Given the description of an element on the screen output the (x, y) to click on. 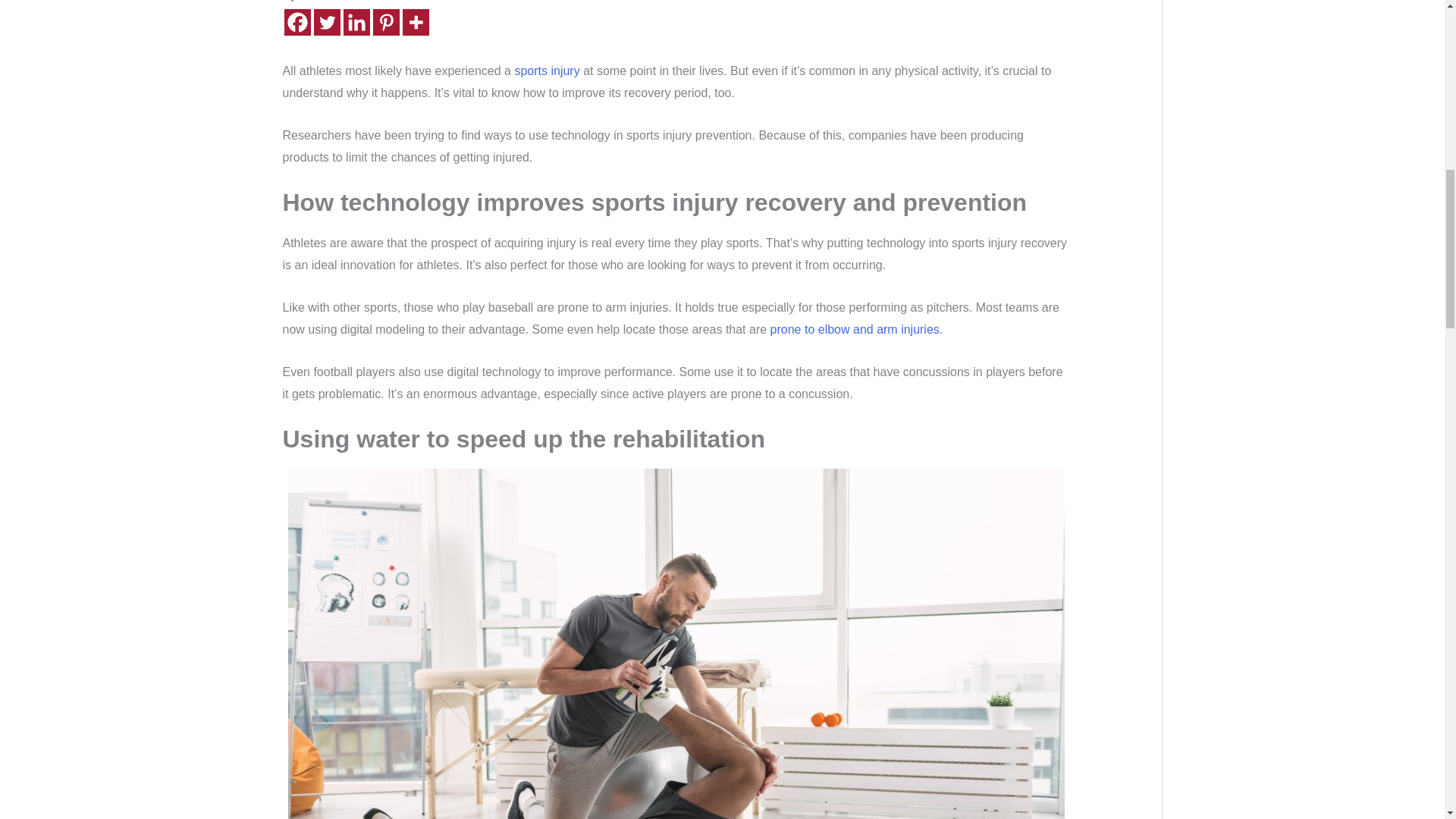
Linkedin (355, 22)
Pinterest (385, 22)
More (414, 22)
Twitter (327, 22)
Facebook (296, 22)
WebMD (854, 328)
sports injury (546, 70)
prone to elbow and arm injuries (854, 328)
